Given the description of an element on the screen output the (x, y) to click on. 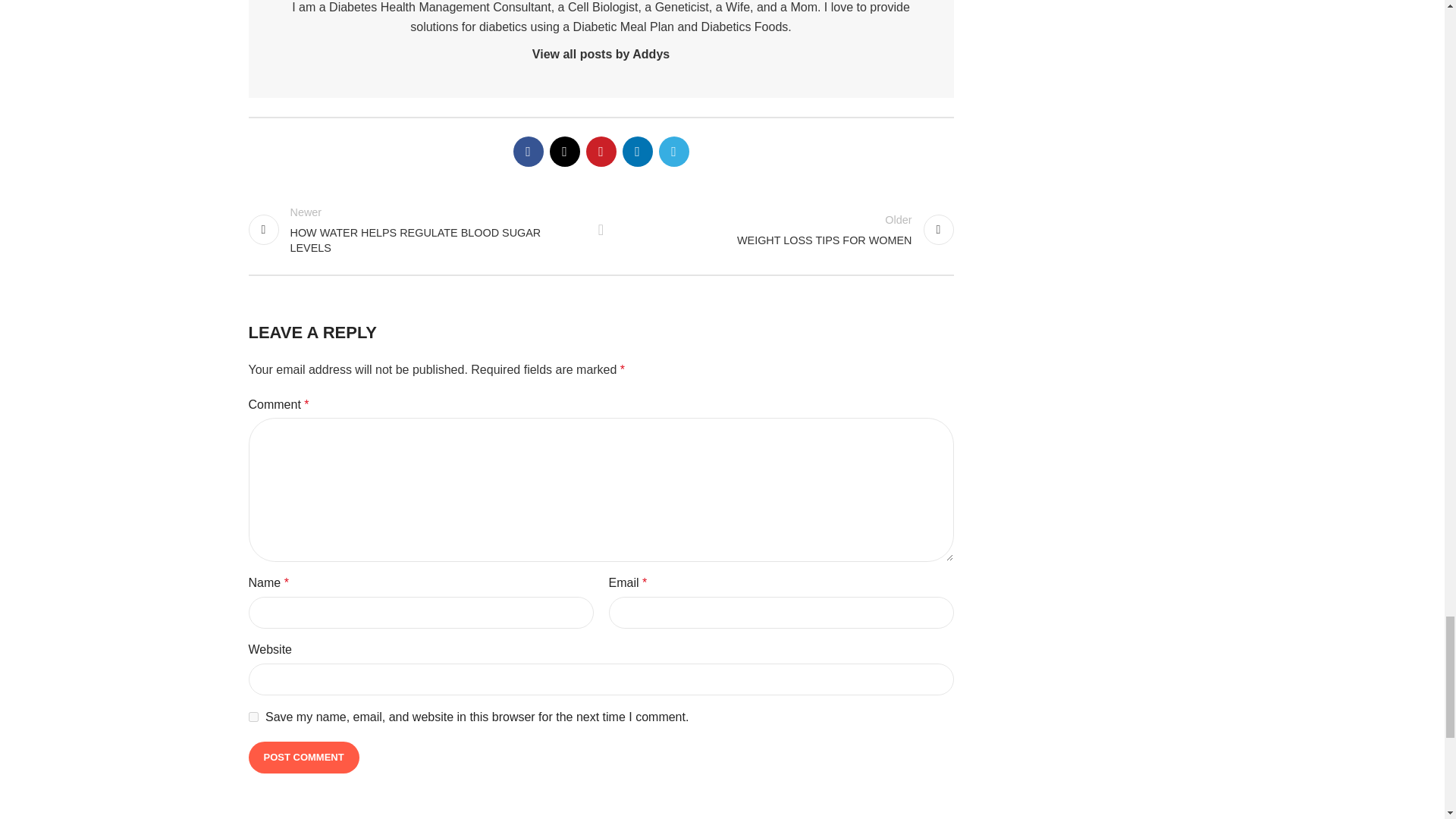
Post Comment (303, 757)
yes (253, 716)
